Given the description of an element on the screen output the (x, y) to click on. 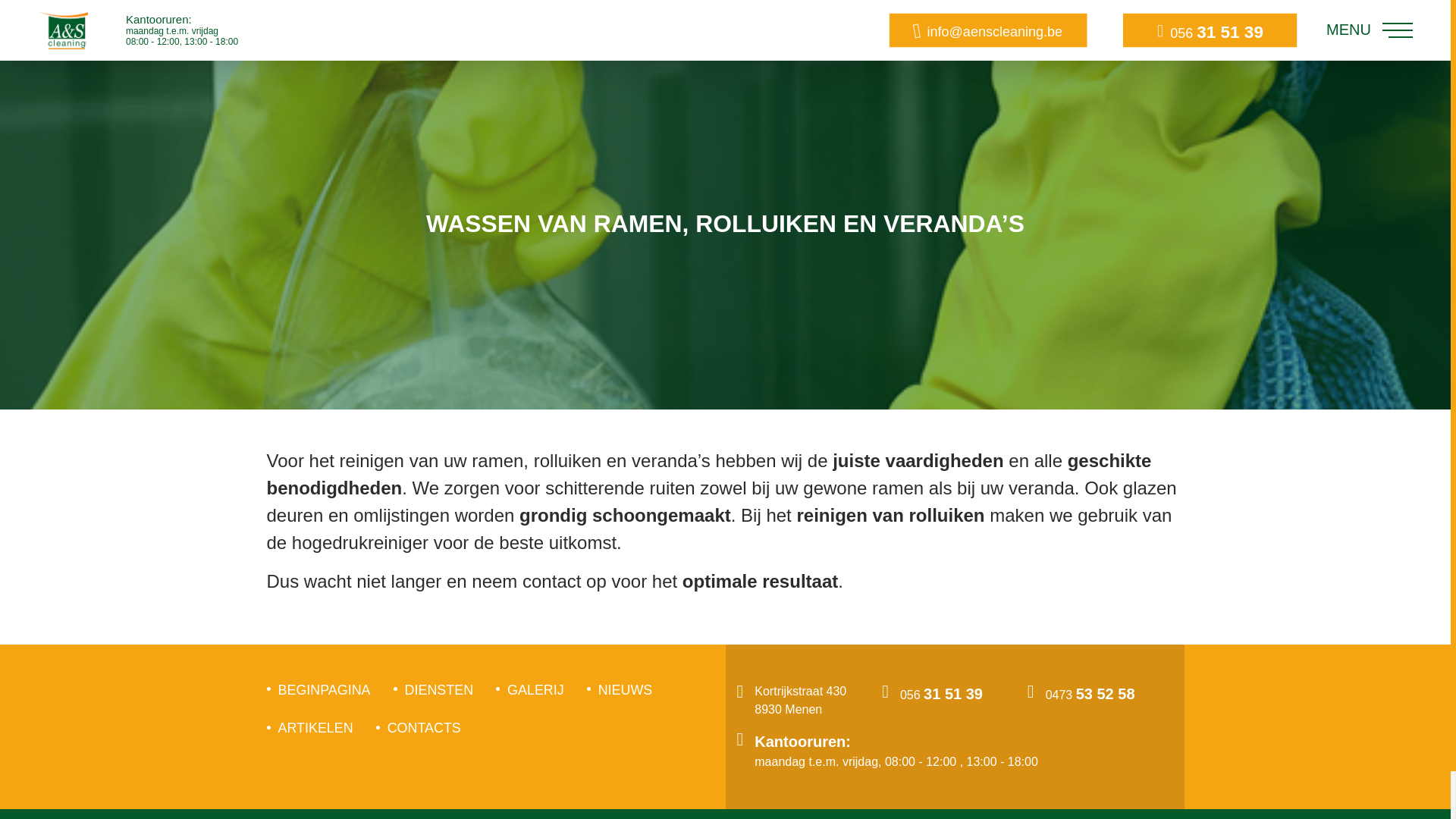
DIENSTEN Element type: text (438, 690)
ARTIKELEN Element type: text (314, 728)
MENU Element type: text (1369, 30)
GALERIJ Element type: text (535, 690)
CONTACTS Element type: text (424, 728)
0473 53 52 58 Element type: text (1090, 700)
056 31 51 39 Element type: text (941, 700)
056 31 51 39 Element type: text (1219, 32)
BEGINPAGINA Element type: text (323, 690)
info@aenscleaning.be Element type: text (999, 32)
NIEUWS Element type: text (625, 690)
